Given the description of an element on the screen output the (x, y) to click on. 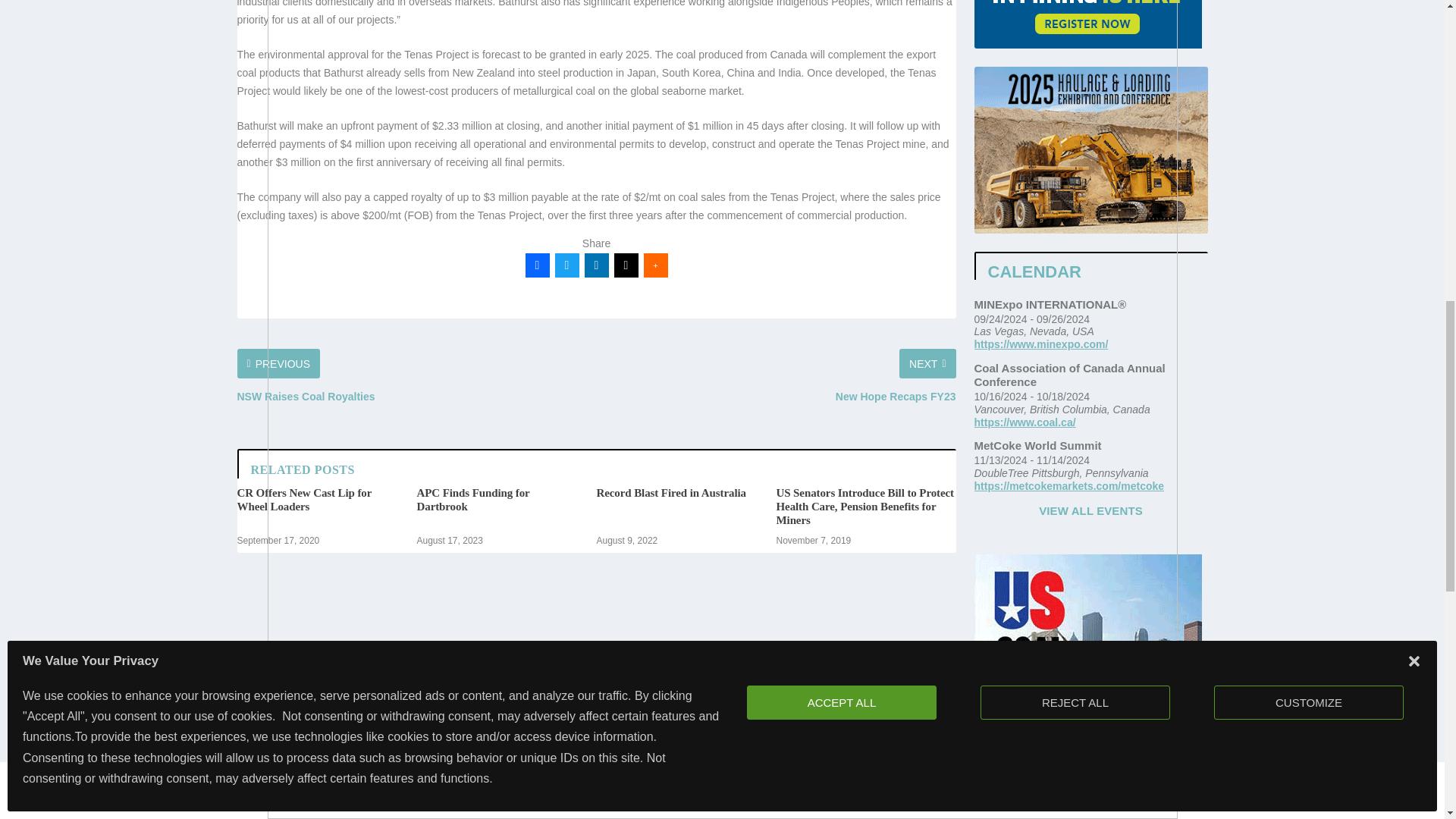
Email this  (626, 265)
Share this on Facebook (536, 265)
Add this to LinkedIn (595, 265)
Tweet this ! (566, 265)
More share links (654, 265)
